Given the description of an element on the screen output the (x, y) to click on. 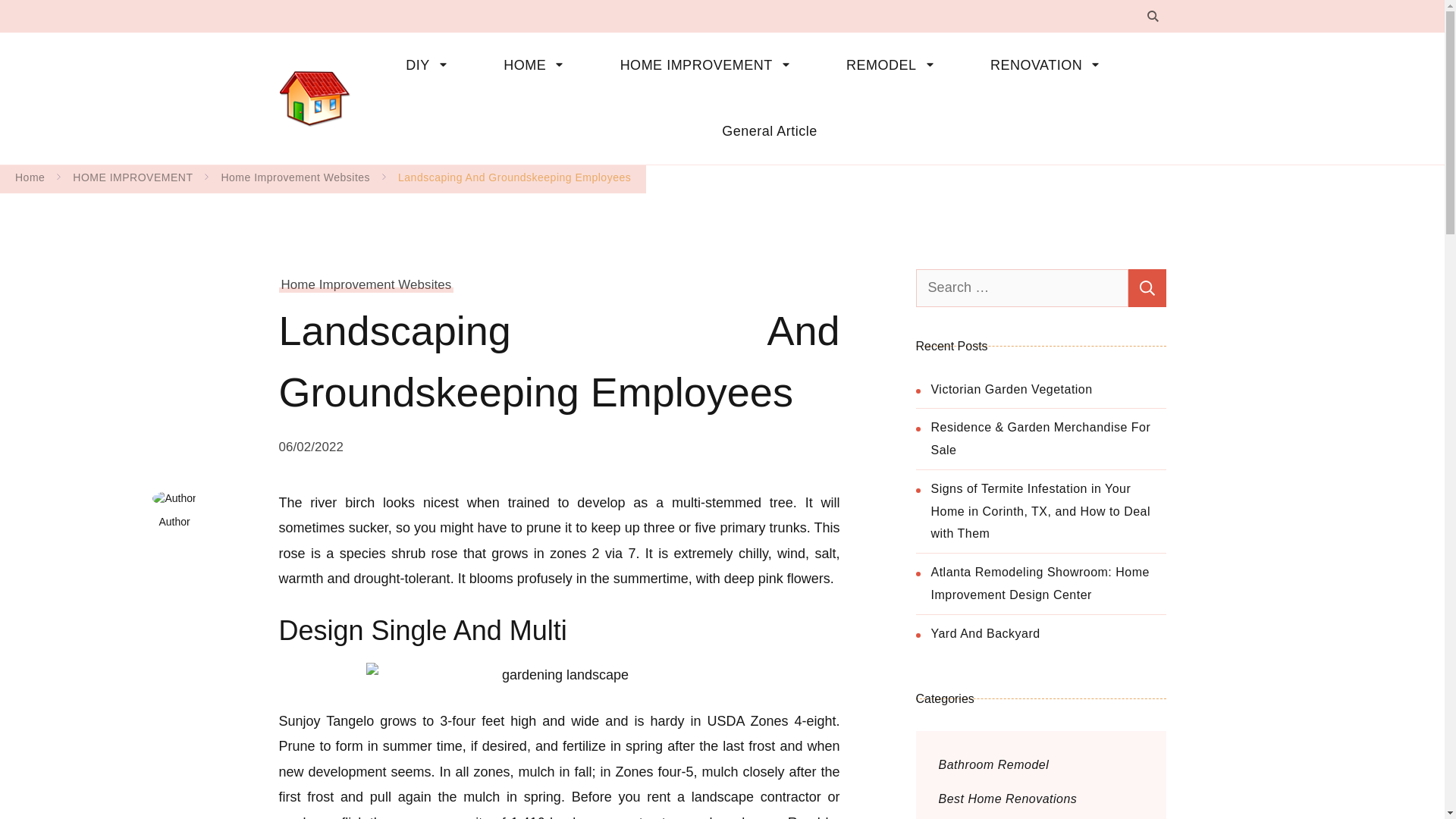
HOME (538, 65)
HOME IMPROVEMENT (710, 65)
Search (1147, 287)
Search (1147, 287)
DIY (431, 65)
RENOVATION (1051, 65)
General Article (757, 131)
dreamstreetlive.com (453, 85)
REMODEL (896, 65)
